Given the description of an element on the screen output the (x, y) to click on. 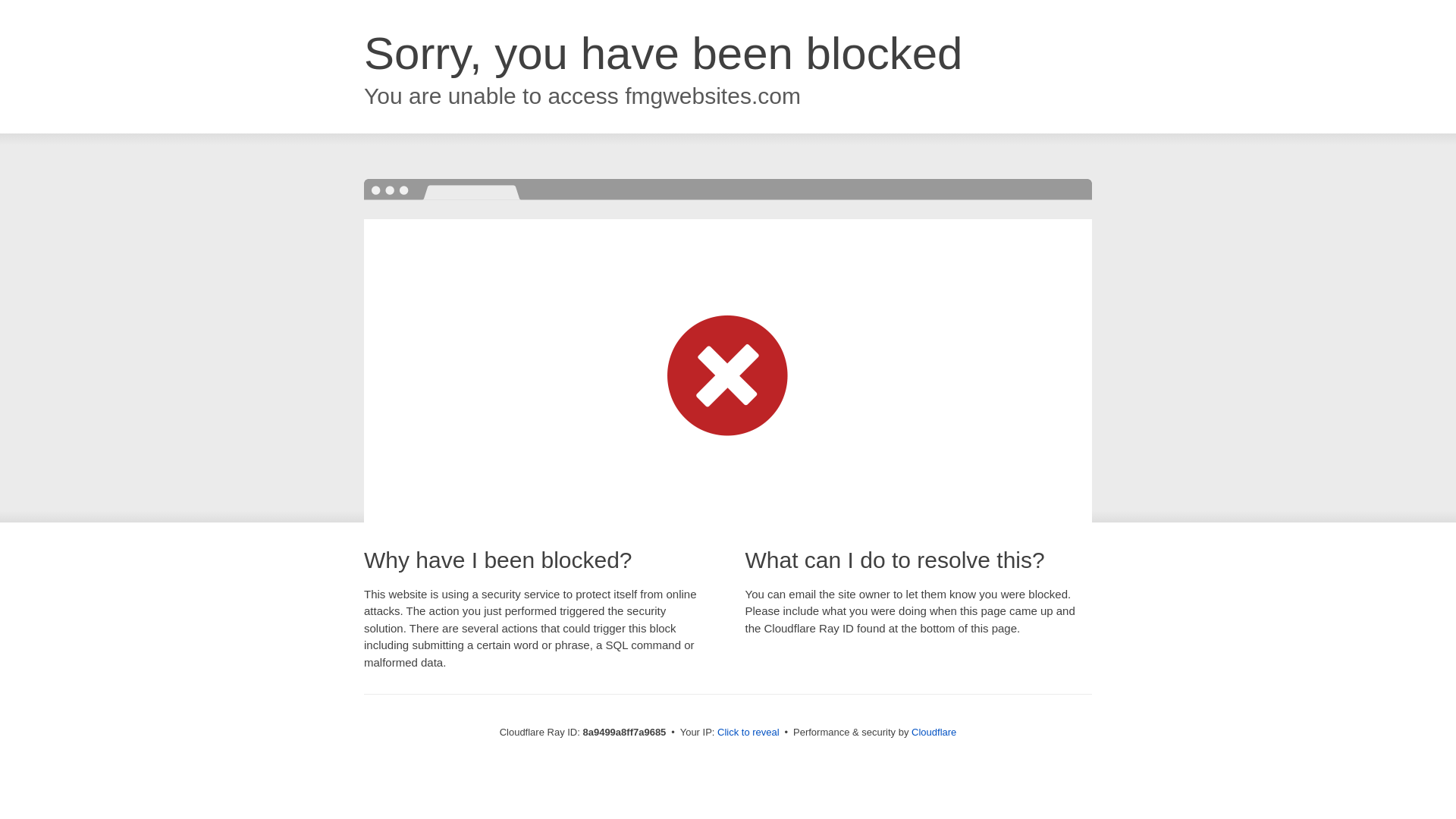
Cloudflare (933, 731)
Click to reveal (747, 732)
